Given the description of an element on the screen output the (x, y) to click on. 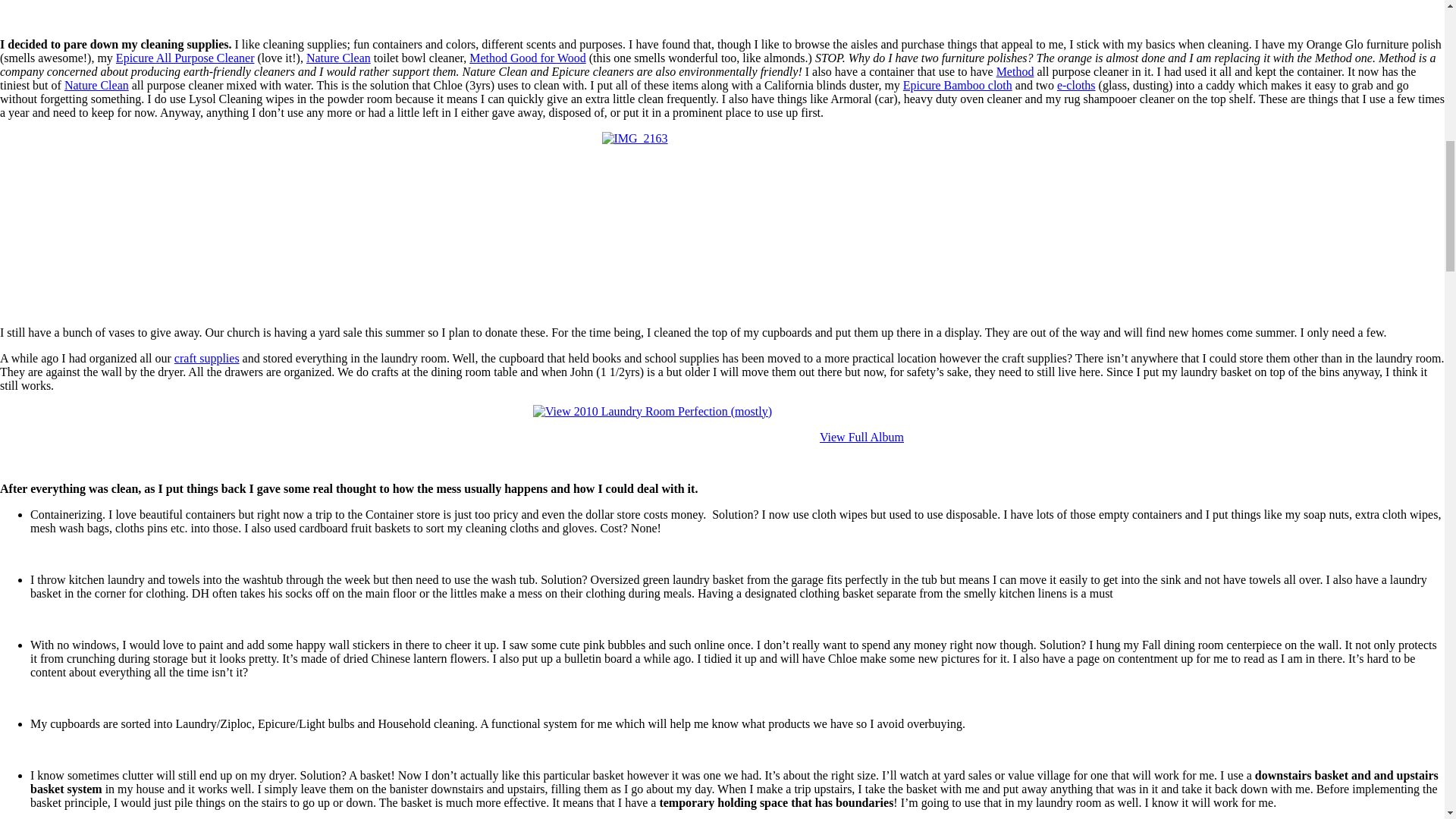
Nature Clean (338, 57)
Nature Clean (96, 84)
Method (1014, 71)
Epicure All Purpose Cleaner (185, 57)
Method Good for Wood (527, 57)
